Given the description of an element on the screen output the (x, y) to click on. 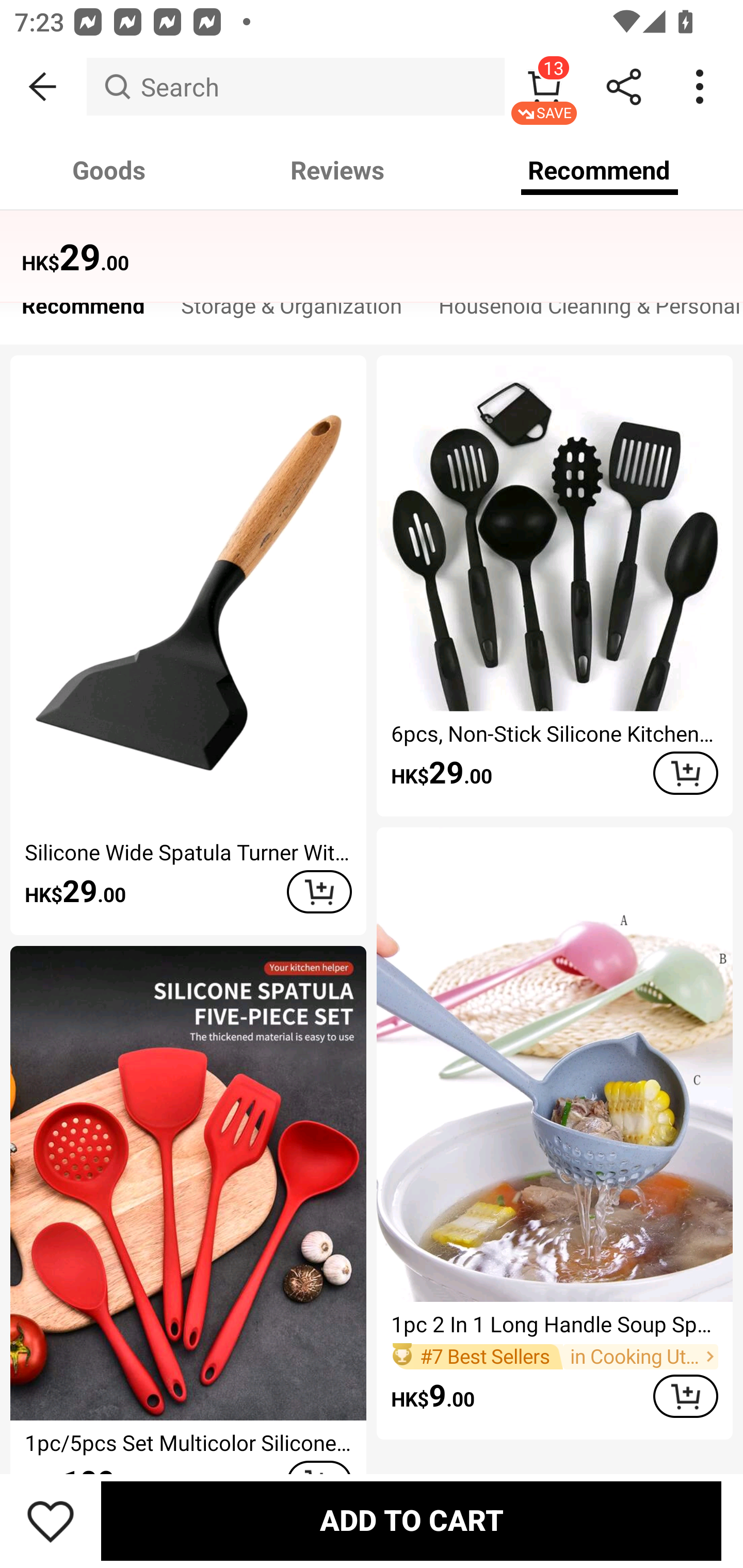
BACK (43, 86)
13 SAVE (543, 87)
Search (295, 87)
Goods (109, 170)
Reviews (337, 170)
Recommend (599, 170)
You May Also Like (371, 244)
Recommend (82, 310)
Storage & Organization (291, 310)
Household Cleaning & Personal Care (581, 310)
ADD TO CART (685, 772)
ADD TO CART (319, 892)
#7 Best Sellers in Cooking Utensils (554, 1356)
ADD TO CART (685, 1396)
ADD TO CART (411, 1520)
Save (50, 1520)
